Given the description of an element on the screen output the (x, y) to click on. 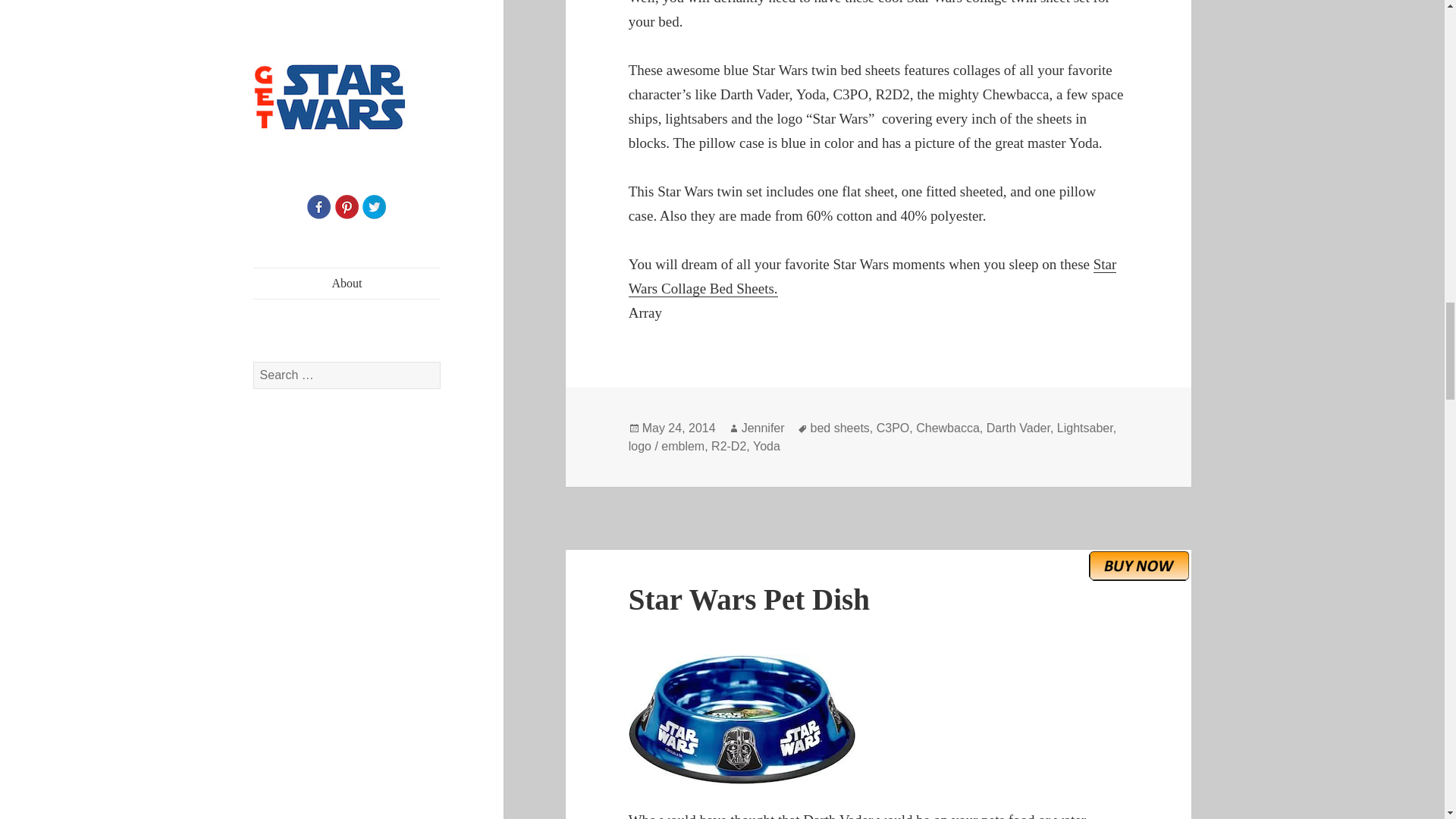
Star Wars dog food bowl (878, 718)
Star Wars characters bedding (872, 276)
Darth Vader (1018, 427)
Yoda (766, 446)
R2-D2 (728, 446)
Star Wars Collage Bed Sheets. (872, 276)
Jennifer (762, 427)
Chewbacca (947, 427)
May 24, 2014 (679, 427)
Lightsaber (1085, 427)
